Given the description of an element on the screen output the (x, y) to click on. 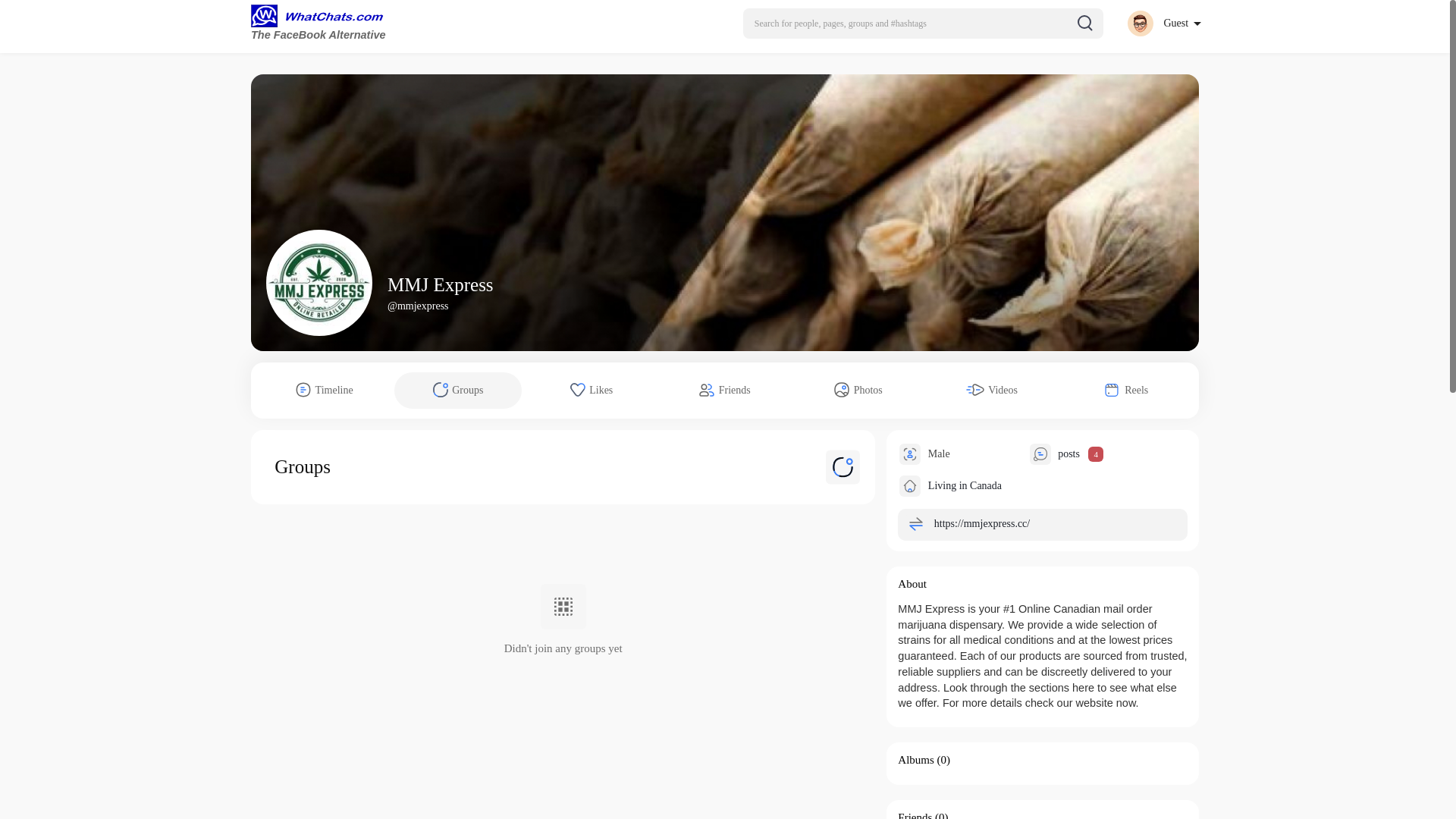
Videos (991, 390)
MMJ Express (440, 284)
Reels (1125, 390)
The FaceBook Alternative (320, 23)
Timeline (324, 390)
Friends (725, 390)
Albums (916, 759)
Guest (1163, 23)
Likes (591, 390)
Photos (857, 390)
